Given the description of an element on the screen output the (x, y) to click on. 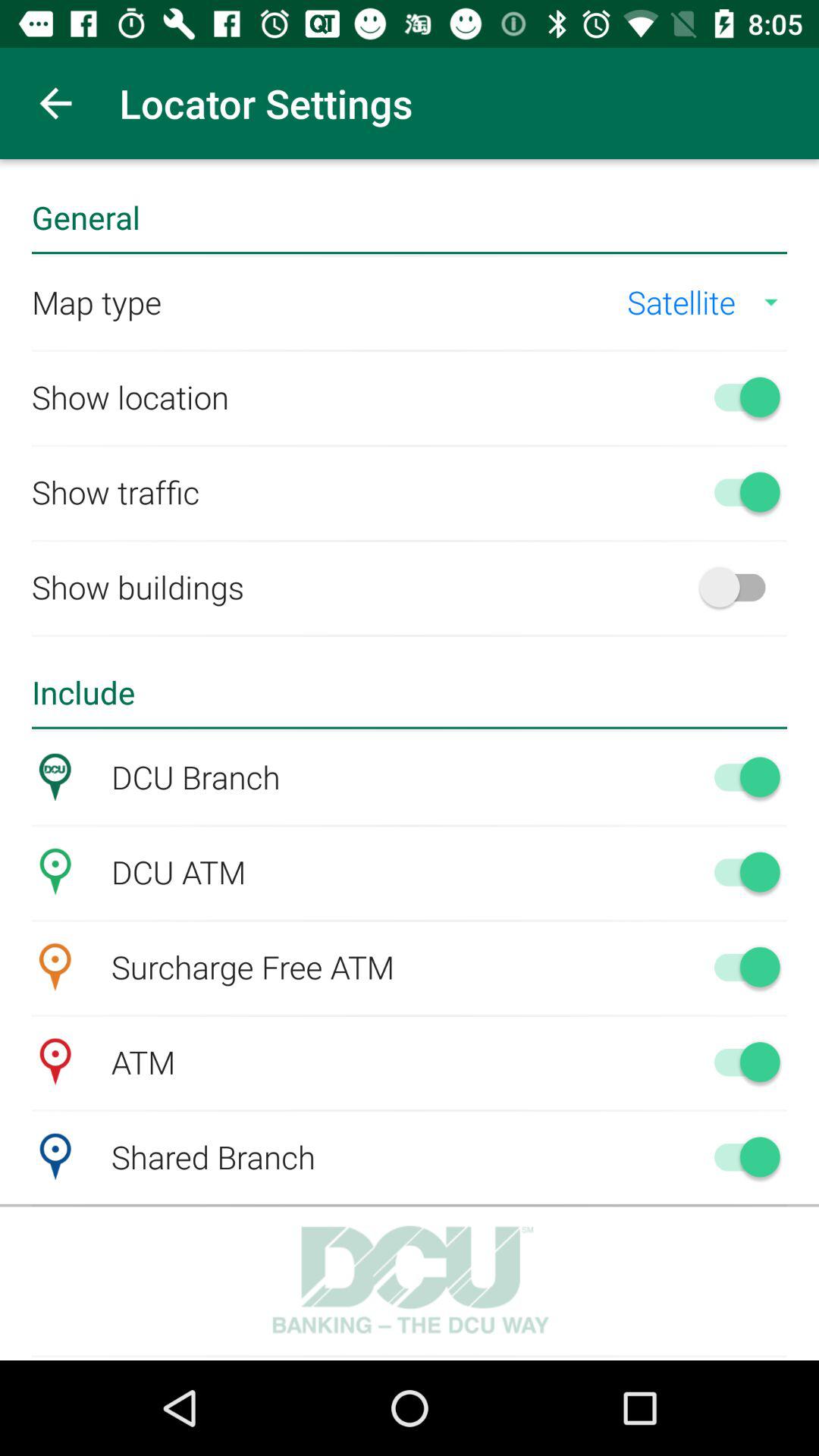
atm (739, 1061)
